Given the description of an element on the screen output the (x, y) to click on. 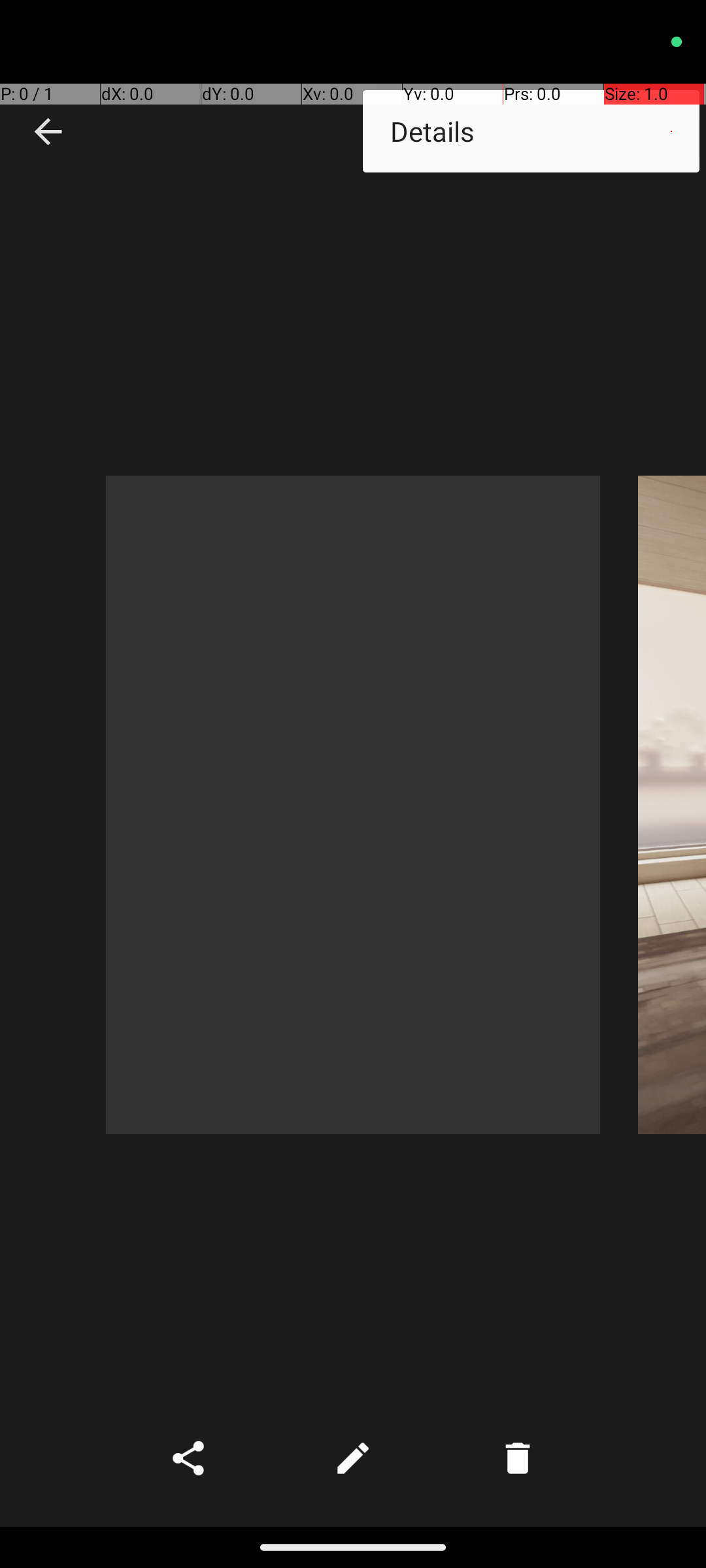
Details Element type: android.widget.TextView (531, 130)
